Given the description of an element on the screen output the (x, y) to click on. 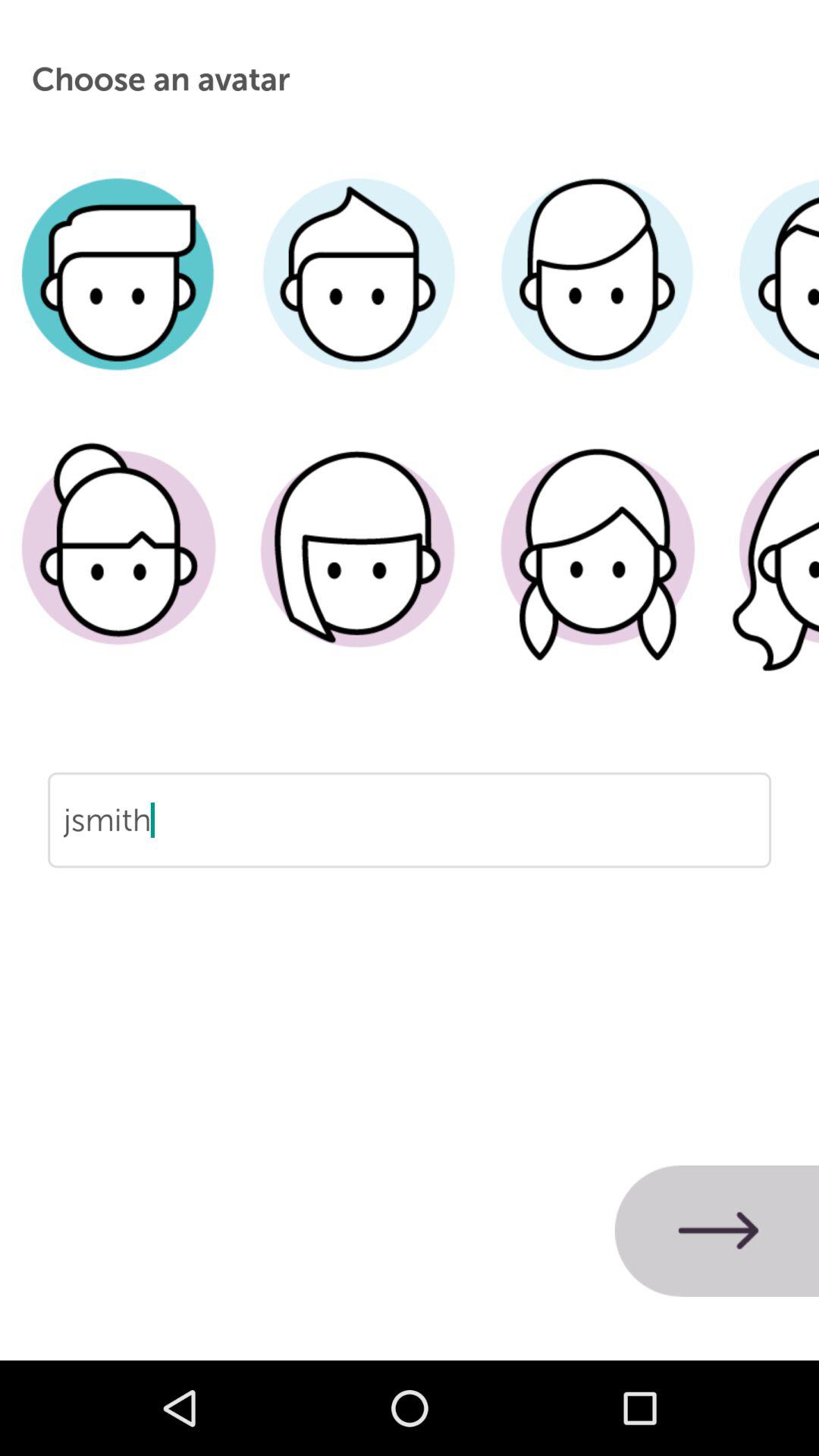
choose a female avatar (596, 570)
